Given the description of an element on the screen output the (x, y) to click on. 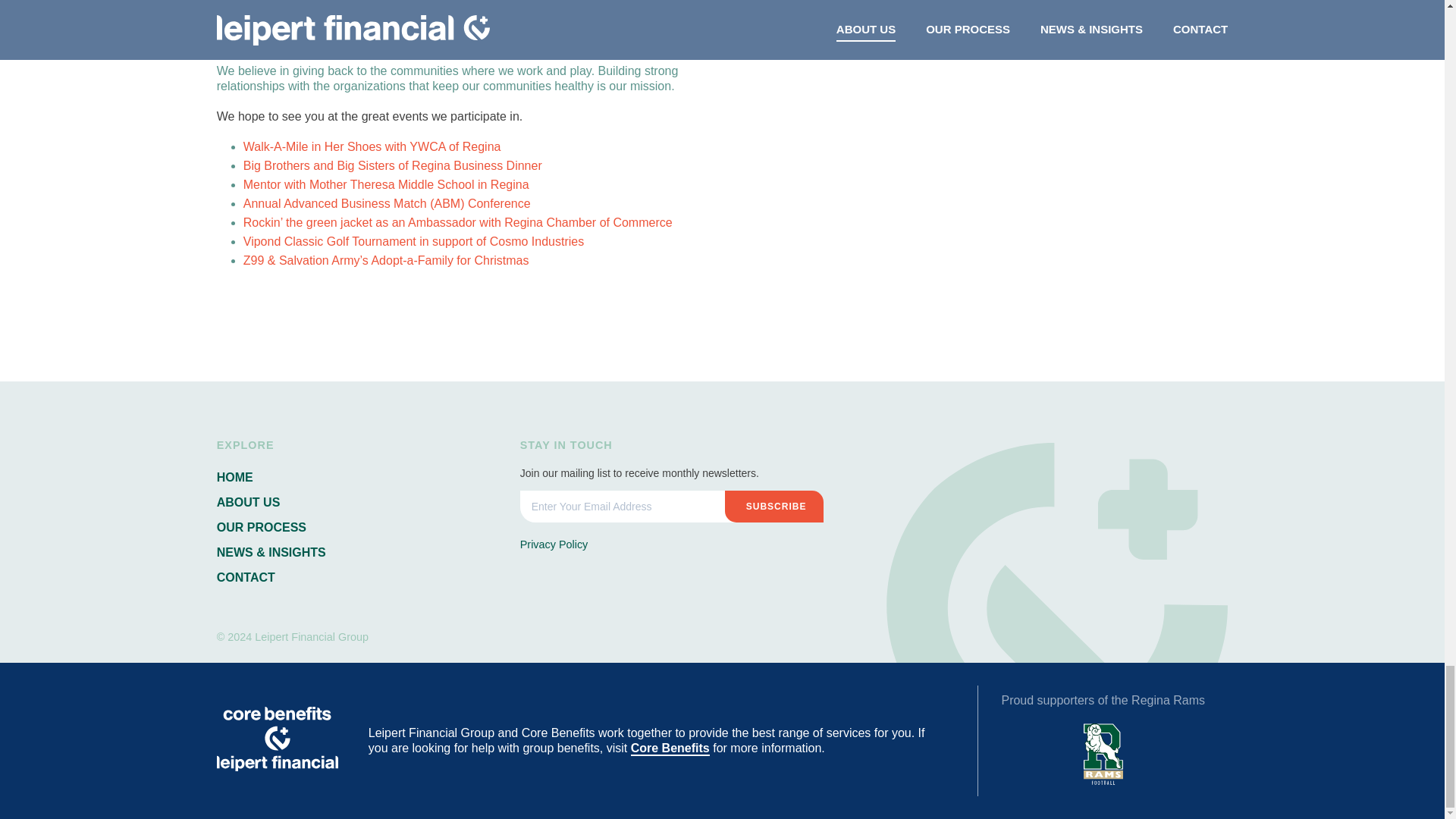
OUR PROCESS (260, 526)
Walk-A-Mile in Her Shoes with YWCA of Regina (371, 146)
Subscribe (774, 506)
Core Benefits (670, 748)
Big Brothers and Big Sisters of Regina Business Dinner (392, 164)
ABOUT US (248, 502)
Privacy Policy (553, 544)
CONTACT (245, 576)
Subscribe (774, 506)
